Given the description of an element on the screen output the (x, y) to click on. 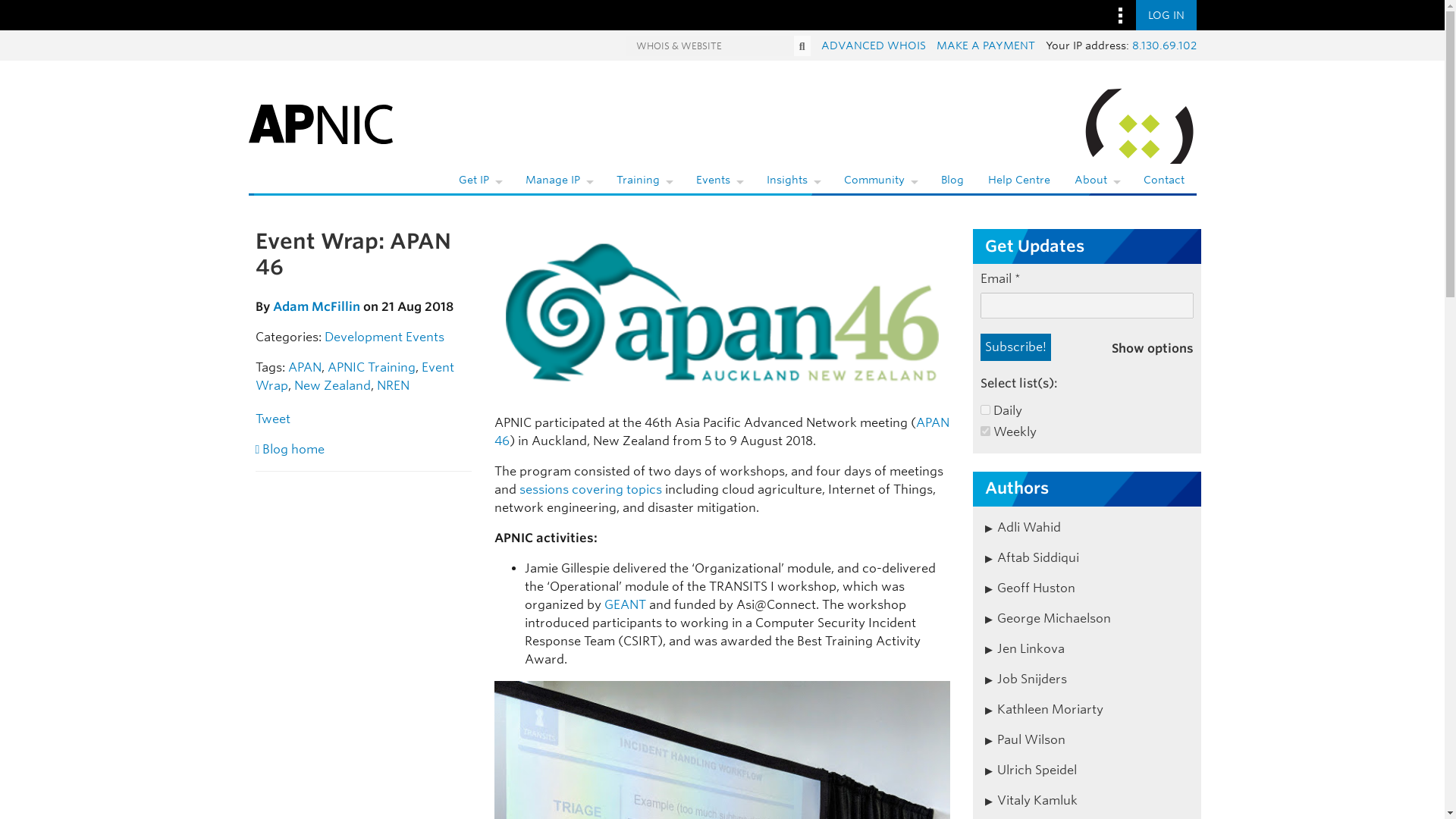
3 (984, 430)
View all posts in Development (363, 336)
Posts by Adam McFillin (316, 306)
Subscribe! (1015, 347)
Search (801, 45)
8.130.69.102 (1163, 45)
4 (984, 409)
ADVANCED WHOIS (872, 45)
MAKE A PAYMENT (984, 45)
LOG IN (1165, 15)
View all posts in Events (424, 336)
Email (1086, 305)
